Given the description of an element on the screen output the (x, y) to click on. 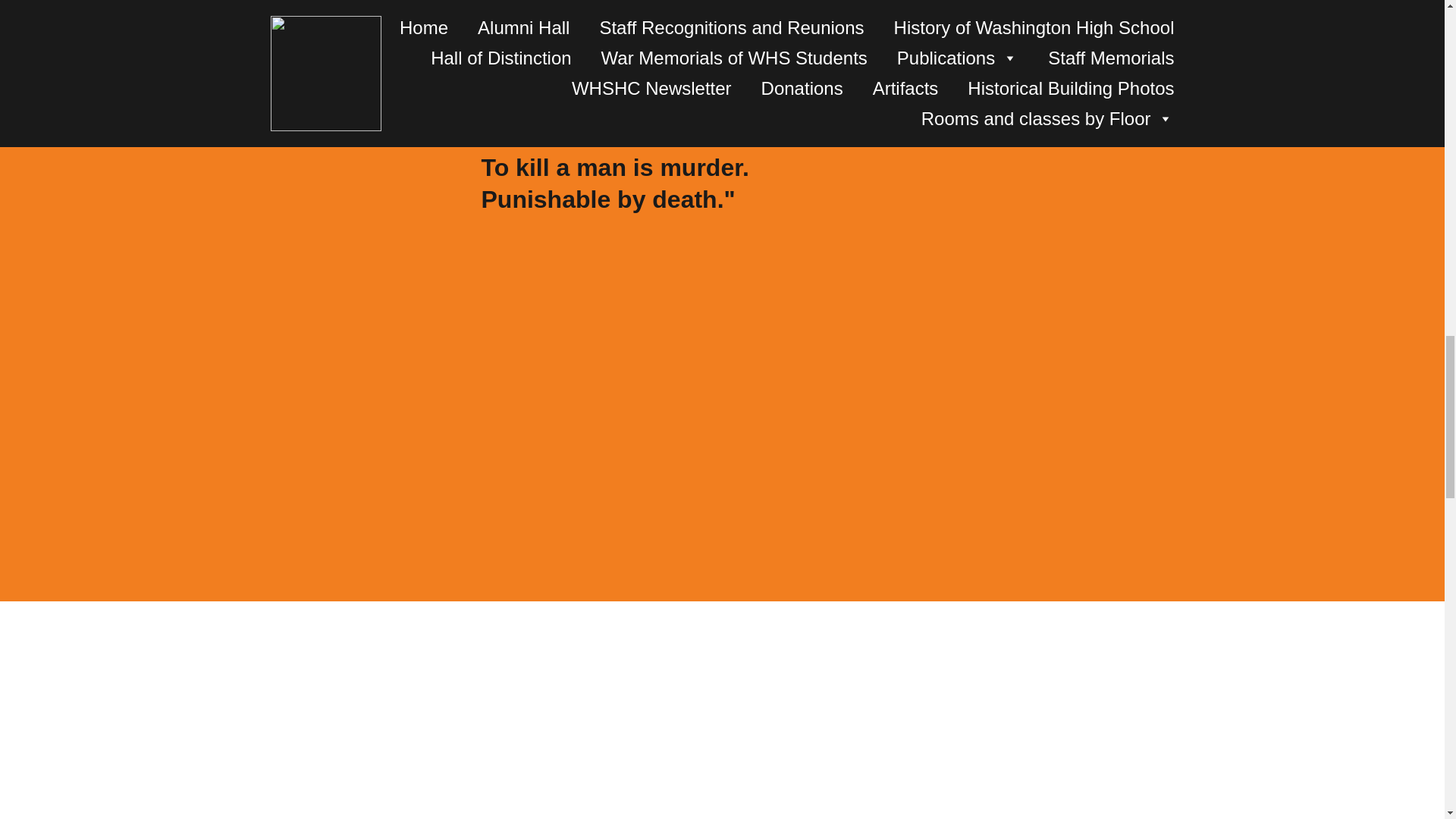
Soliloquy (538, 82)
Kathleen Mundt (599, 35)
